Given the description of an element on the screen output the (x, y) to click on. 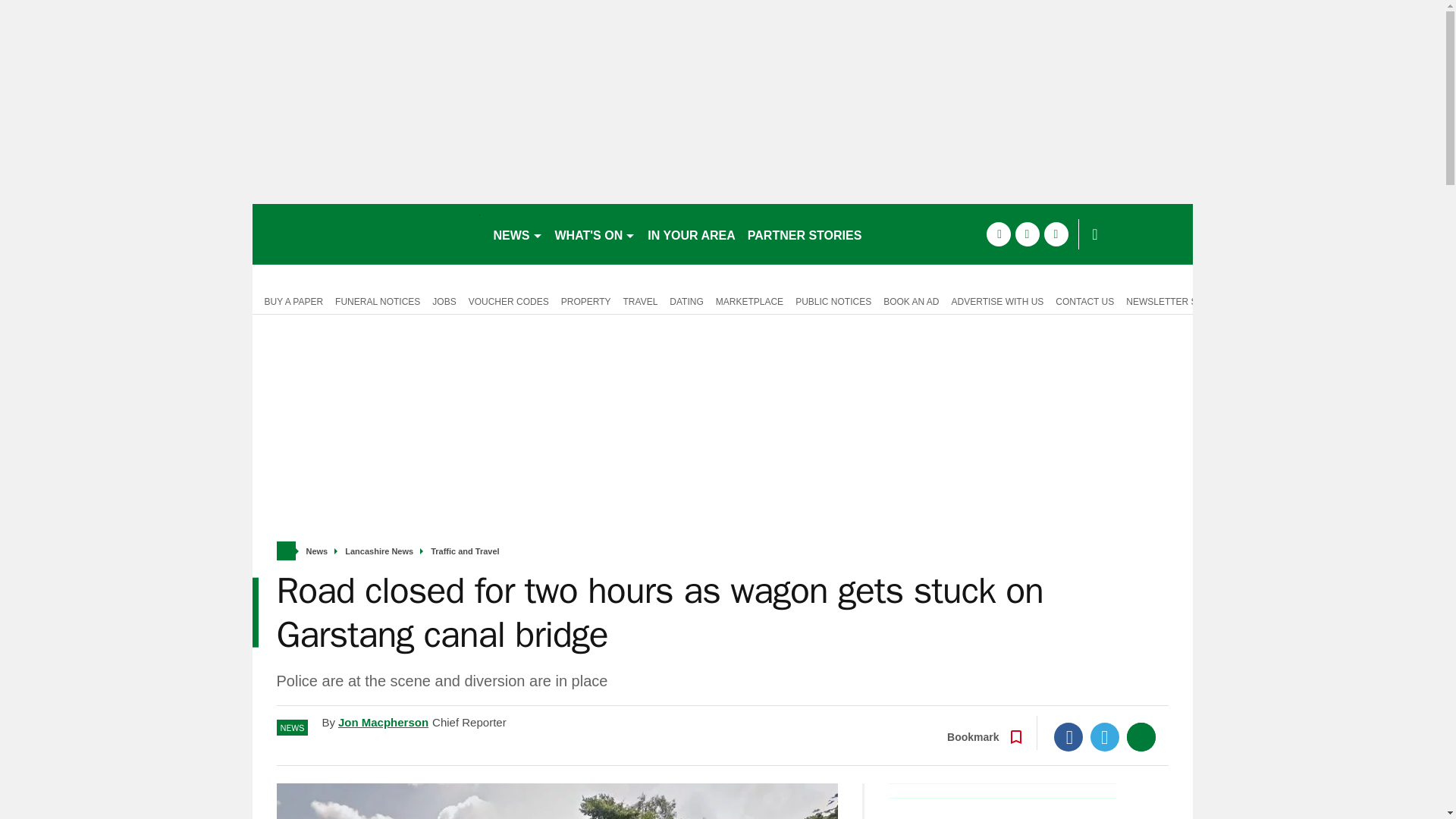
twitter (1026, 233)
IN YOUR AREA (691, 233)
PROPERTY (585, 300)
BOOK AN AD (910, 300)
Facebook (1068, 736)
DATING (686, 300)
PARTNER STORIES (804, 233)
ADVERTISE WITH US (996, 300)
JOBS (443, 300)
PUBLIC NOTICES (833, 300)
NEWS (517, 233)
Twitter (1104, 736)
TRAVEL (640, 300)
FUNERAL NOTICES (377, 300)
MARKETPLACE (749, 300)
